Given the description of an element on the screen output the (x, y) to click on. 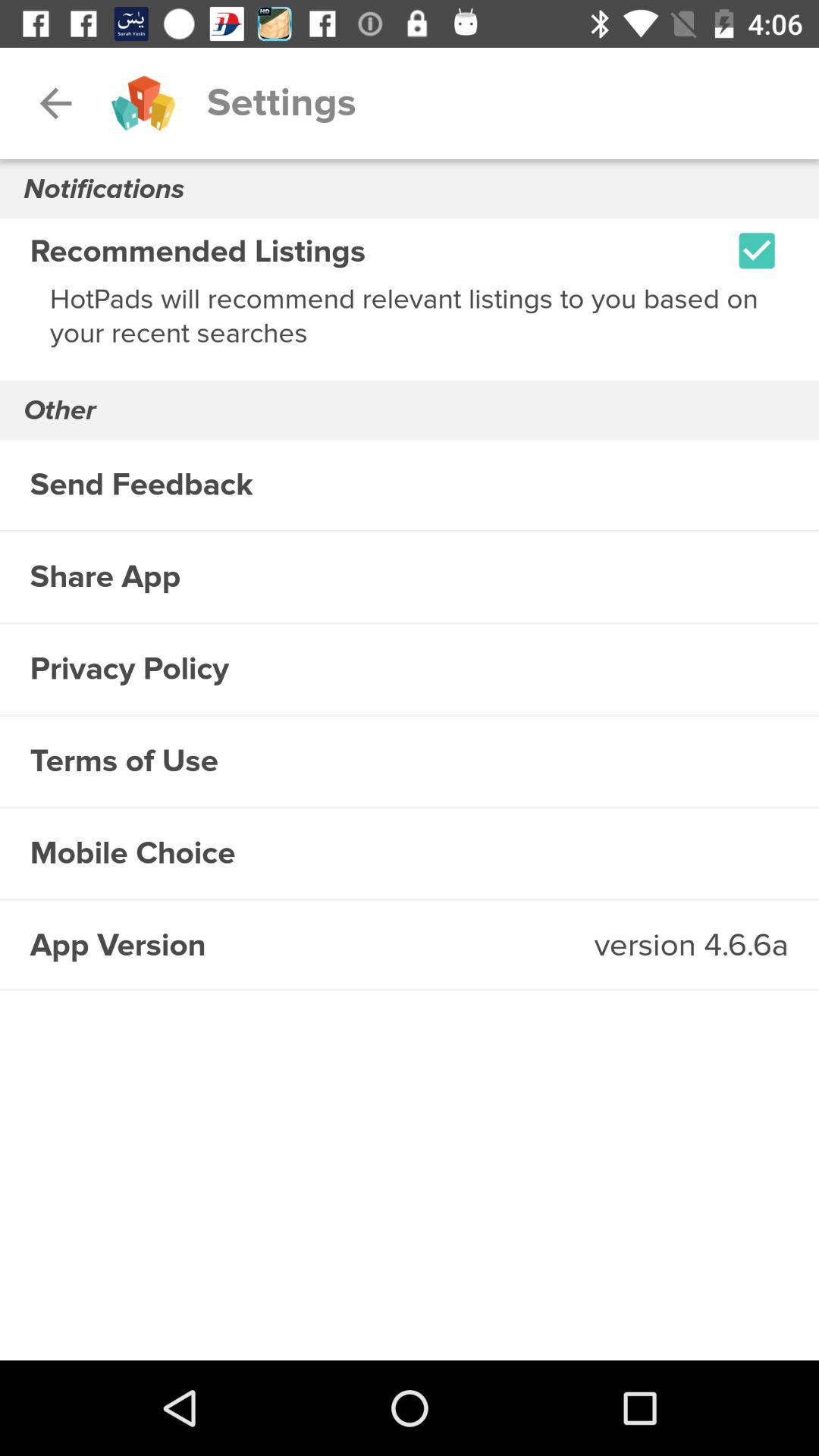
launch privacy policy icon (409, 669)
